Given the description of an element on the screen output the (x, y) to click on. 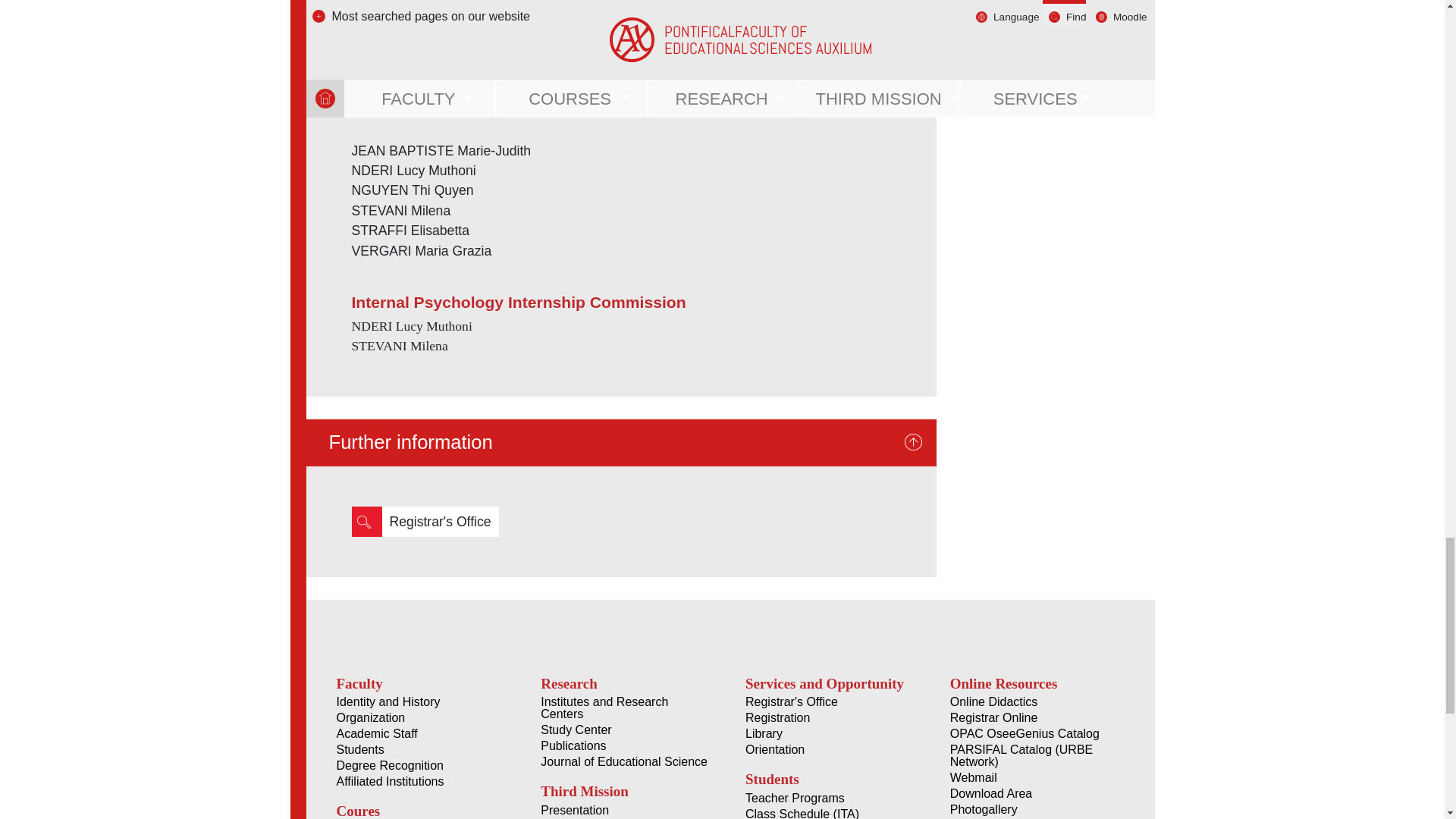
Registrar's Office (440, 521)
Identity and History (419, 702)
